Given the description of an element on the screen output the (x, y) to click on. 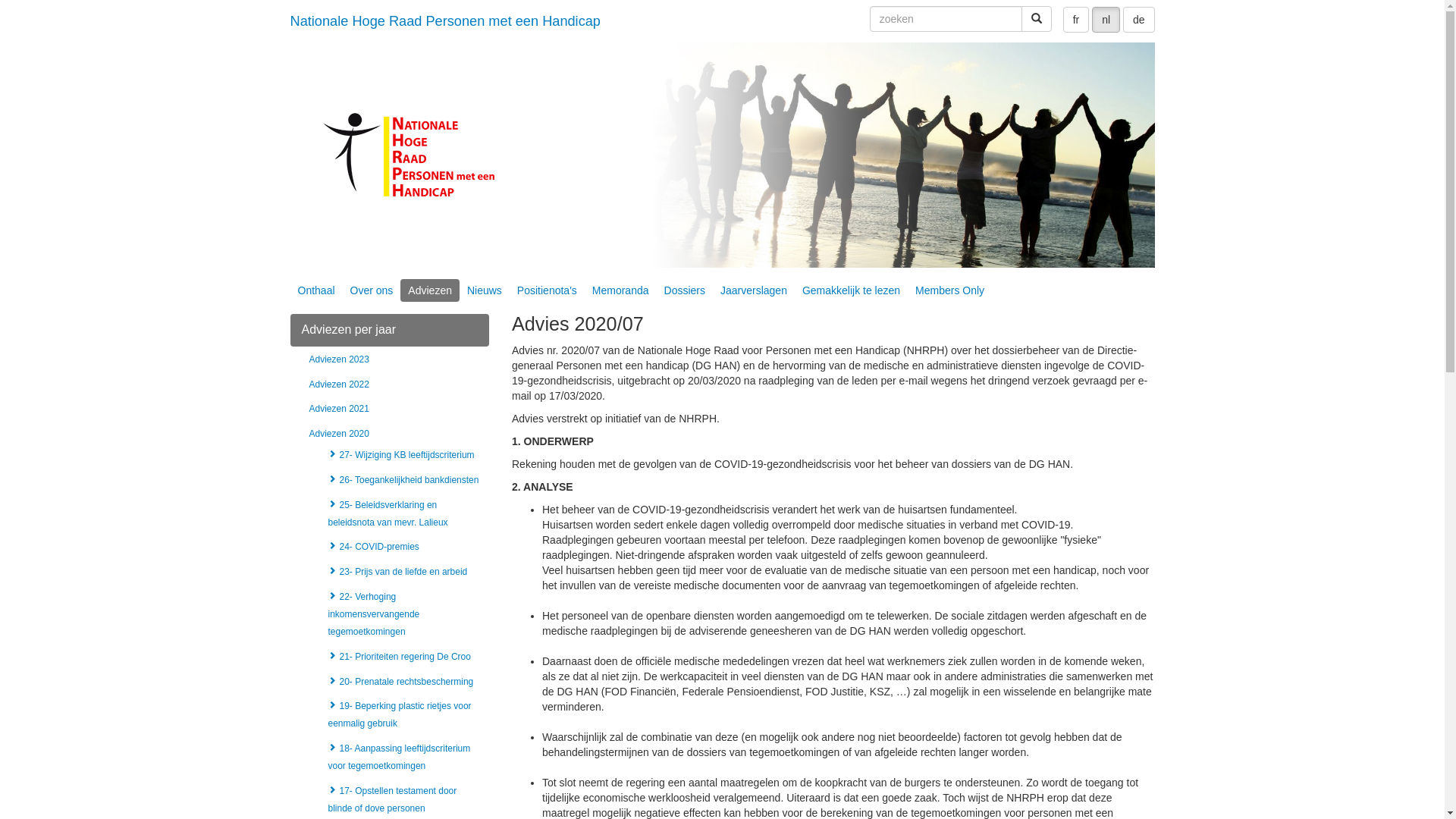
22- Verhoging inkomensvervangende tegemoetkomingen Element type: text (373, 614)
17- Opstellen testament door blinde of dove personen Element type: text (391, 799)
Memoranda Element type: text (620, 290)
Gemakkelijk te lezen Element type: text (850, 290)
Adviezen 2022 Element type: text (339, 384)
Over ons Element type: text (371, 290)
de Element type: text (1138, 19)
zoeken  Element type: hover (945, 18)
21- Prioriteiten regering De Croo Element type: text (398, 656)
Nationale Hoge Raad Personen met een Handicap Element type: text (444, 20)
27- Wijziging KB leeftijdscriterium Element type: text (400, 454)
20- Prenatale rechtsbescherming Element type: text (400, 681)
Dossiers Element type: text (684, 290)
24- COVID-premies Element type: text (372, 546)
Onthaal Element type: text (315, 290)
Adviezen Element type: text (429, 290)
Jaarverslagen Element type: text (753, 290)
Members Only Element type: text (949, 290)
19- Beperking plastic rietjes voor eenmalig gebruik Element type: text (398, 714)
zoeken Element type: text (1036, 18)
25- Beleidsverklaring en beleidsnota van mevr. Lalieux Element type: text (387, 513)
fr Element type: text (1076, 19)
Adviezen 2020 Element type: text (339, 433)
nl Element type: text (1106, 19)
Positienota's Element type: text (546, 290)
18- Aanpassing leeftijdscriterium voor tegemoetkomingen Element type: text (398, 757)
23- Prijs van de liefde en arbeid Element type: text (397, 571)
26- Toegankelijkheid bankdiensten Element type: text (402, 479)
Adviezen 2021 Element type: text (339, 408)
Adviezen 2023 Element type: text (339, 359)
Nieuws Element type: text (484, 290)
Adviezen per jaar Element type: text (389, 329)
